Given the description of an element on the screen output the (x, y) to click on. 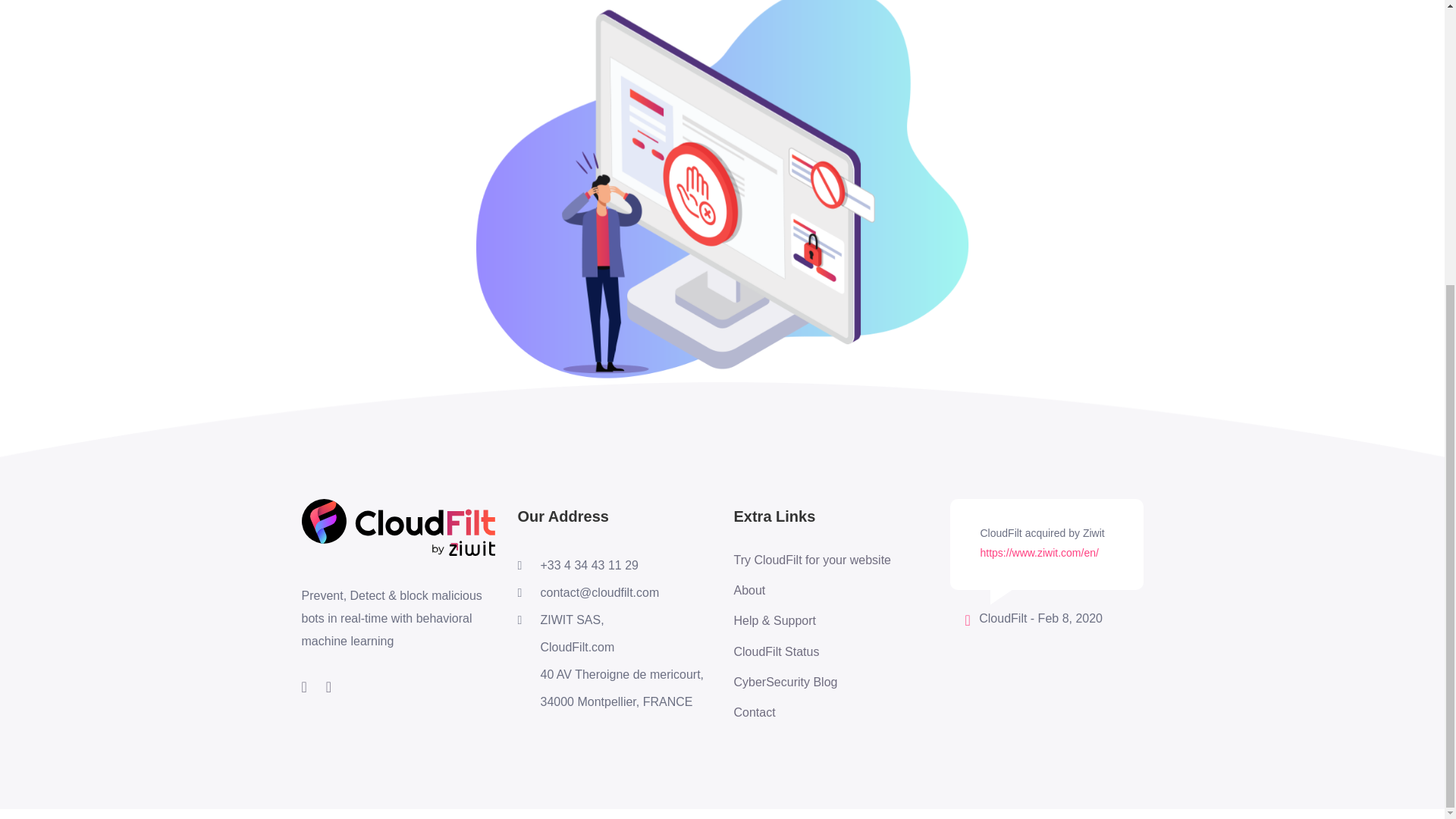
CyberSecurity Blog (812, 682)
About (812, 590)
Try CloudFilt for your website (812, 559)
Contact (812, 712)
CloudFilt Status (812, 651)
